Given the description of an element on the screen output the (x, y) to click on. 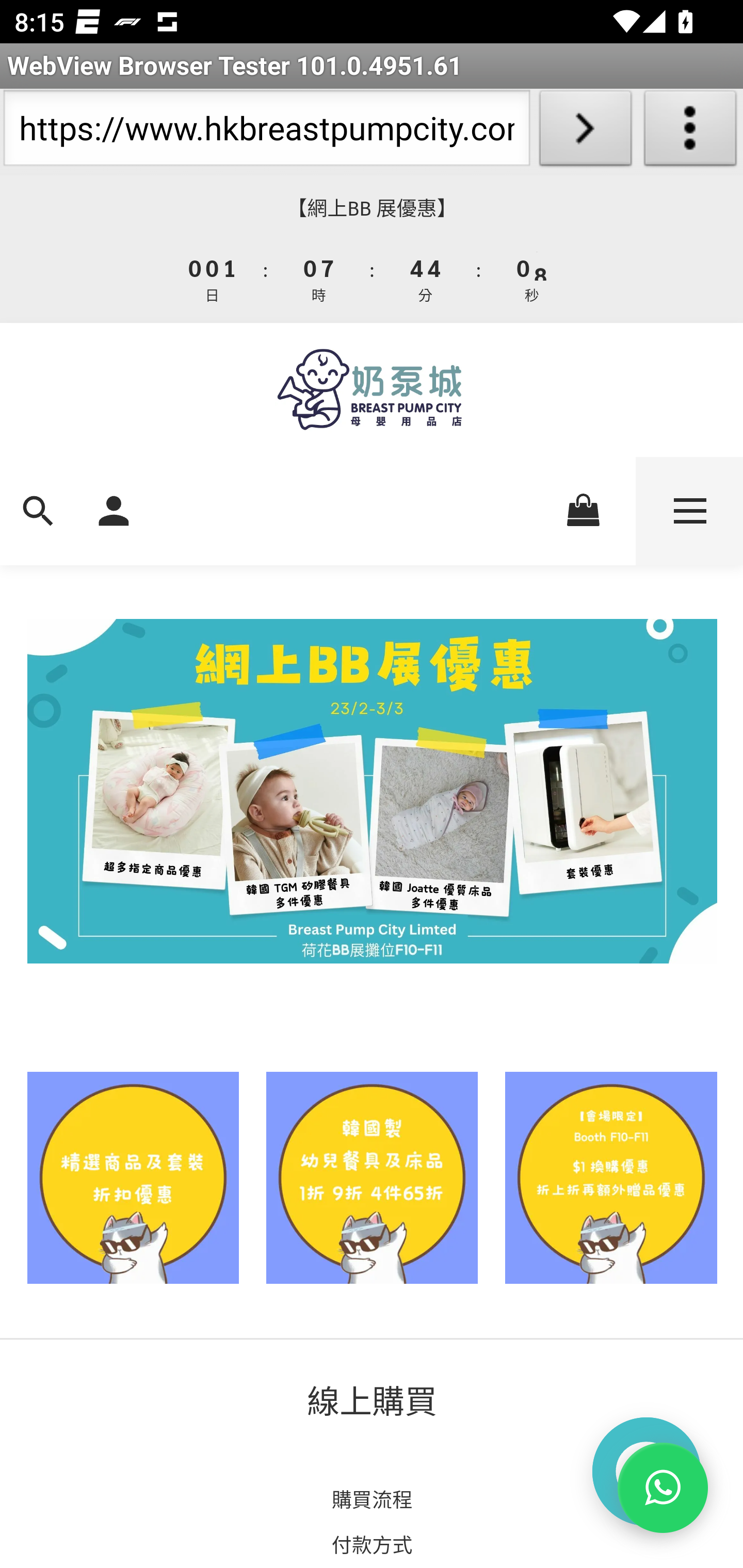
Load URL (585, 132)
About WebView (690, 132)
【網上BB 展優惠】 (371, 208)
3 2 1 0 3 2 1 0 4 3 2 1 0 日 (213, 277)
3 2 1 0 9 8 7 6 5 4 3 2 1 0 時 (318, 277)
7 6 5 4 3 2 1 0 7 6 5 4 3 2 1 0 分 (425, 277)
3 2 1 0 9 8 7 6 5 4 3 2 1 0 秒 (530, 277)
594x (371, 389)
sign_in (113, 511)
線上購買 (372, 1400)
購買流程 (371, 1499)
付款方式 (371, 1543)
